Given the description of an element on the screen output the (x, y) to click on. 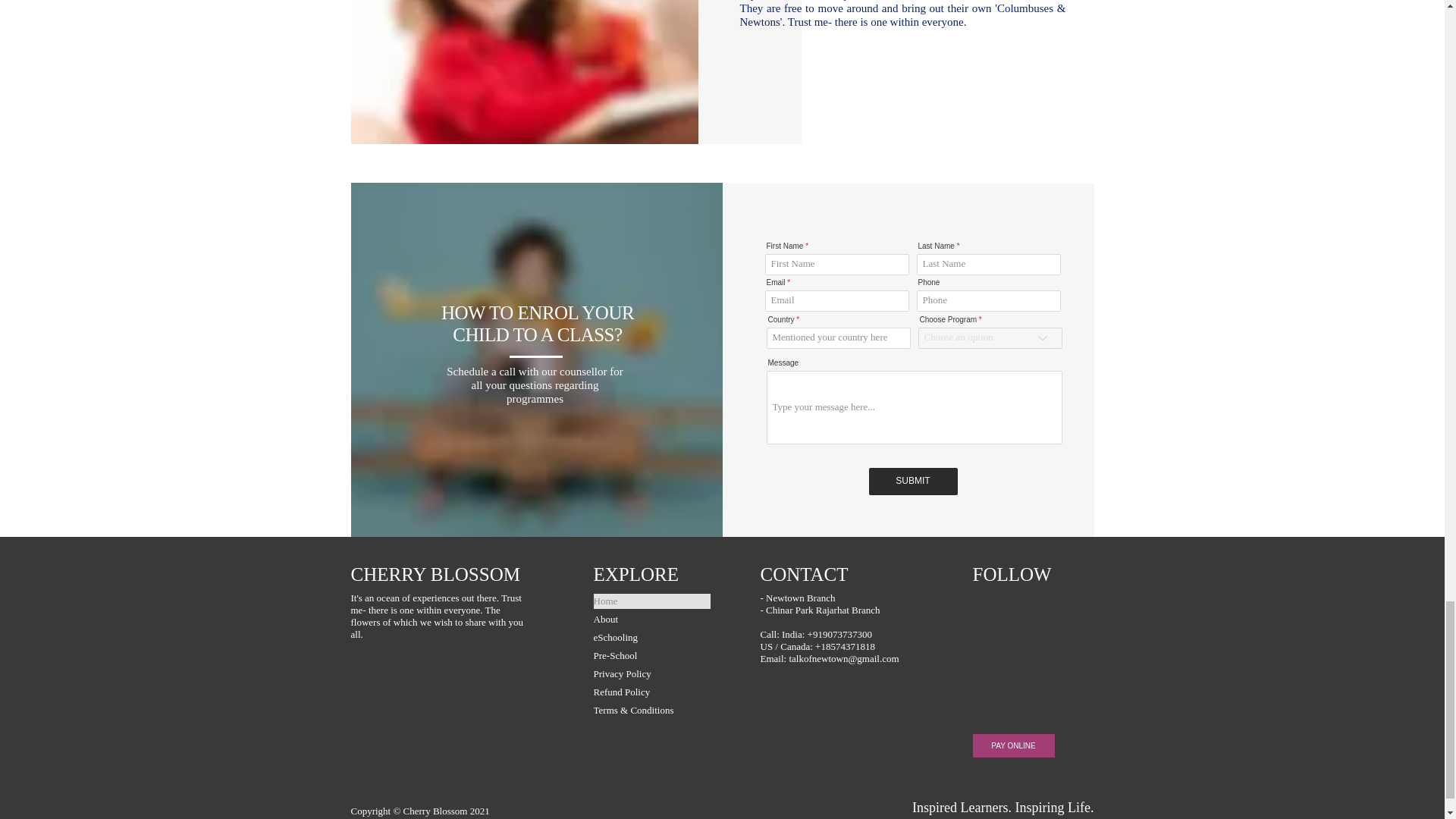
About (651, 619)
Home (651, 601)
Privacy Policy (651, 673)
SUBMIT (913, 481)
Refund Policy (651, 692)
eSchooling (651, 637)
Pre-School (651, 655)
